Given the description of an element on the screen output the (x, y) to click on. 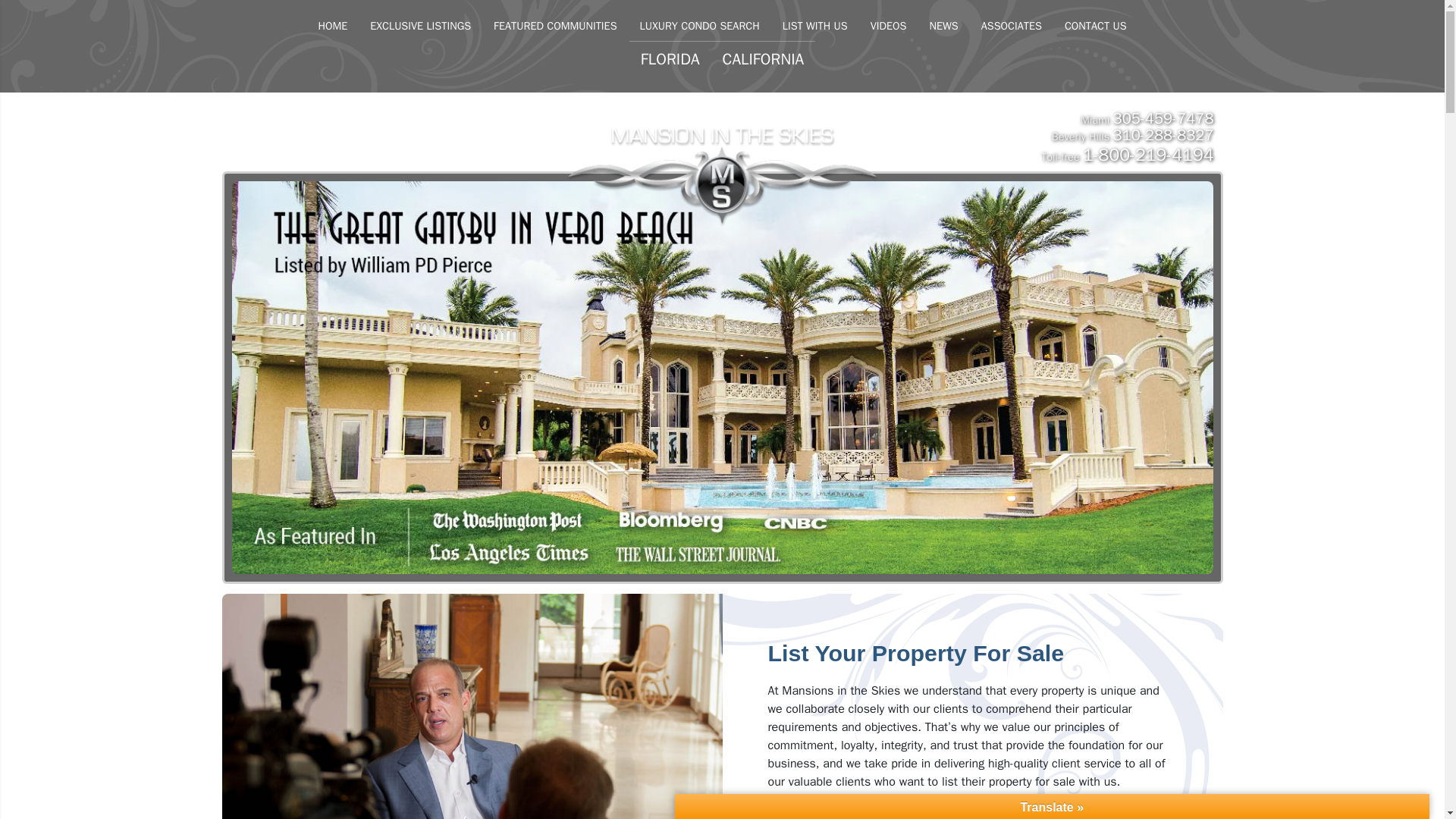
EXCLUSIVE LISTINGS (419, 25)
NEWS (943, 25)
CONTACT US (1095, 25)
Mansions in the Skies - Luxury Condo Real Estate Collection (722, 145)
305-459-7478 (1163, 117)
310-288-8327 (1163, 135)
HOME (331, 25)
LIST WITH US (815, 25)
VIDEOS (888, 25)
CALIFORNIA (763, 58)
FLORIDA (669, 58)
1-800-219-4194 (1148, 155)
LUXURY CONDO SEARCH (699, 25)
FEATURED COMMUNITIES (554, 25)
